Given the description of an element on the screen output the (x, y) to click on. 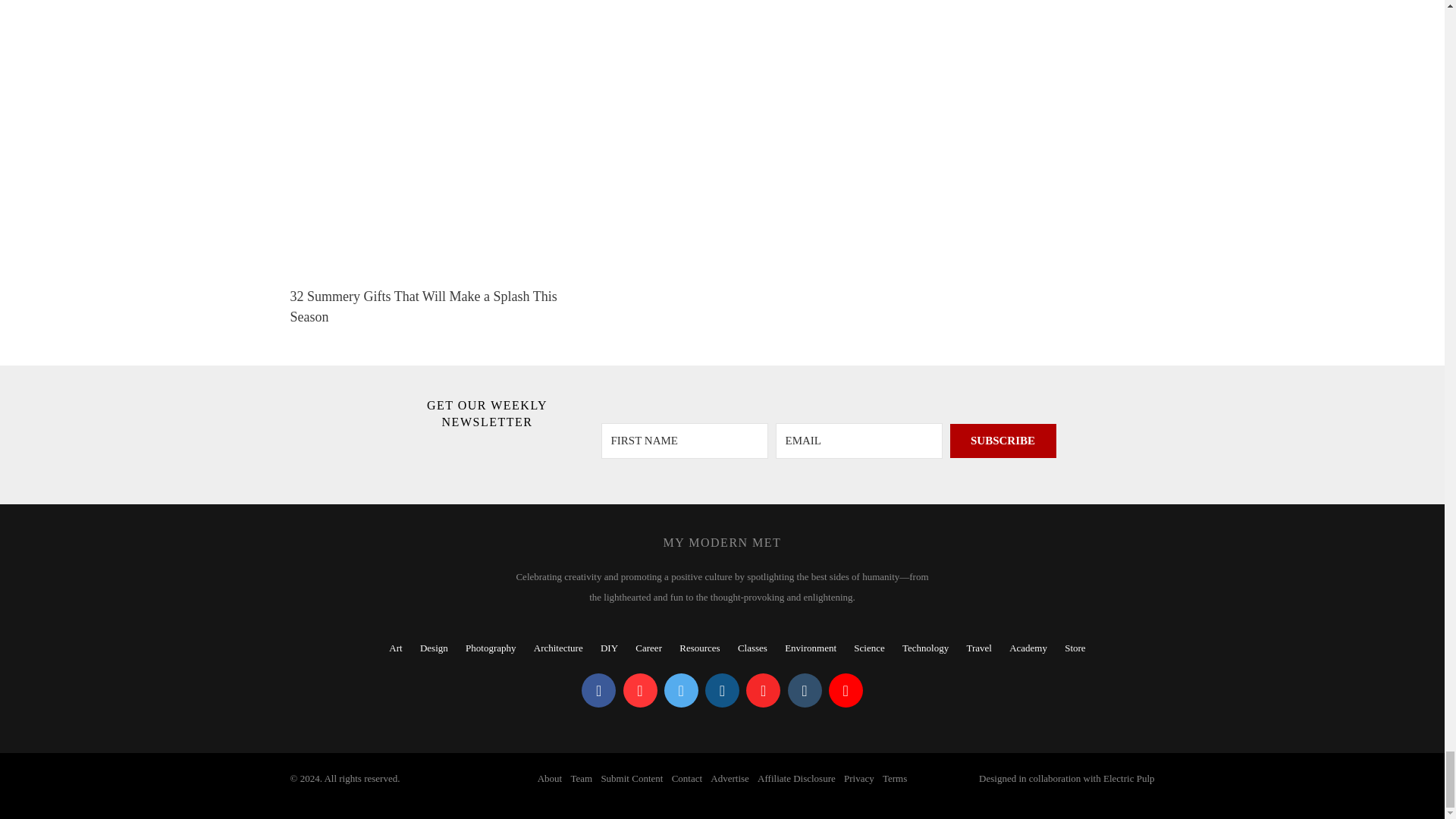
My Modern Met on Pinterest (640, 690)
My Modern Met on Instagram (721, 690)
My Modern Met on Twitter (680, 690)
My Modern Met on YouTube (845, 690)
My Modern Met on Tumblr (804, 690)
My Modern Met on Facebook (597, 690)
